Given the description of an element on the screen output the (x, y) to click on. 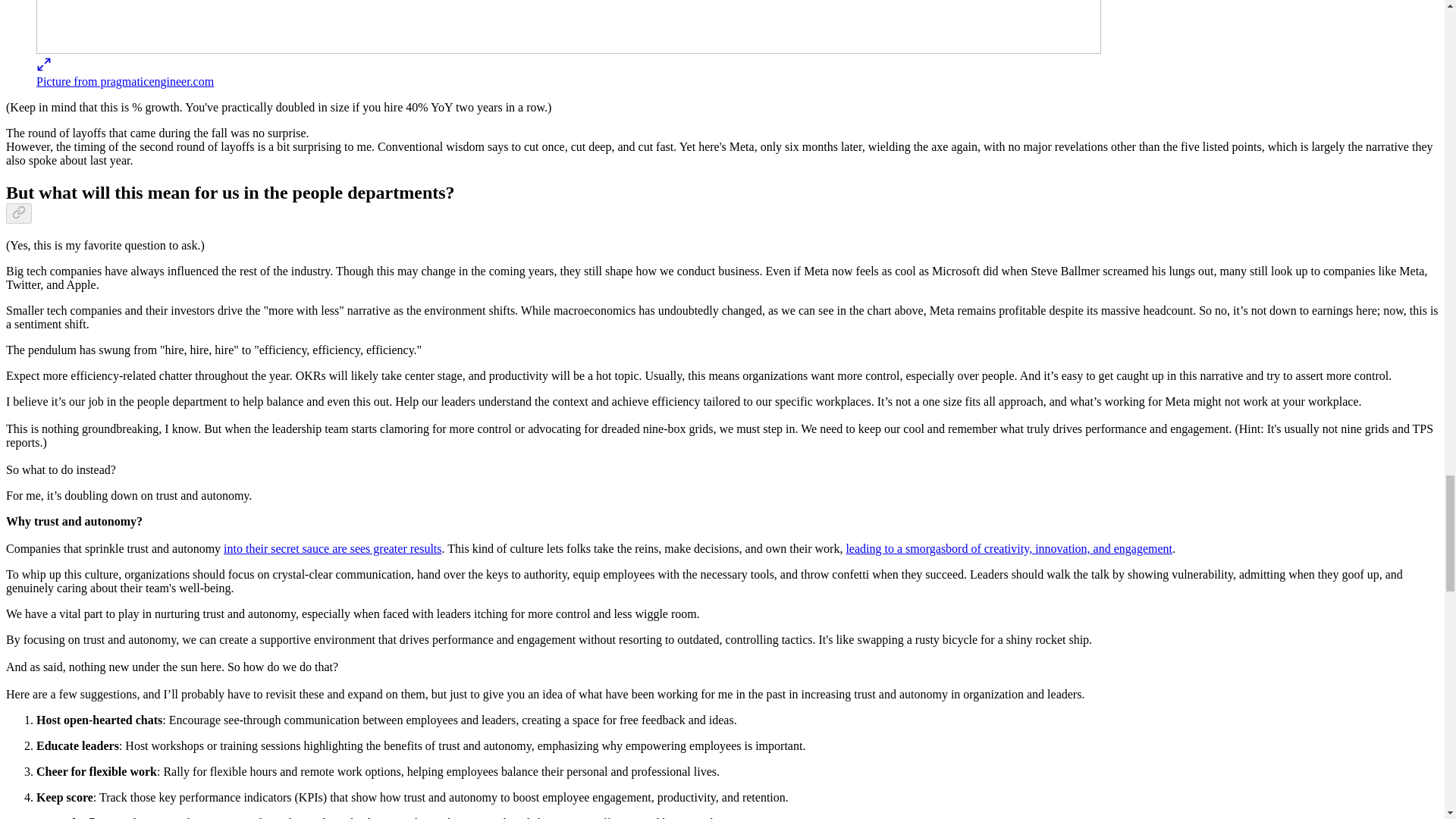
Picture from pragmaticengineer.com (125, 81)
into their secret sauce are sees greater results (332, 548)
